Given the description of an element on the screen output the (x, y) to click on. 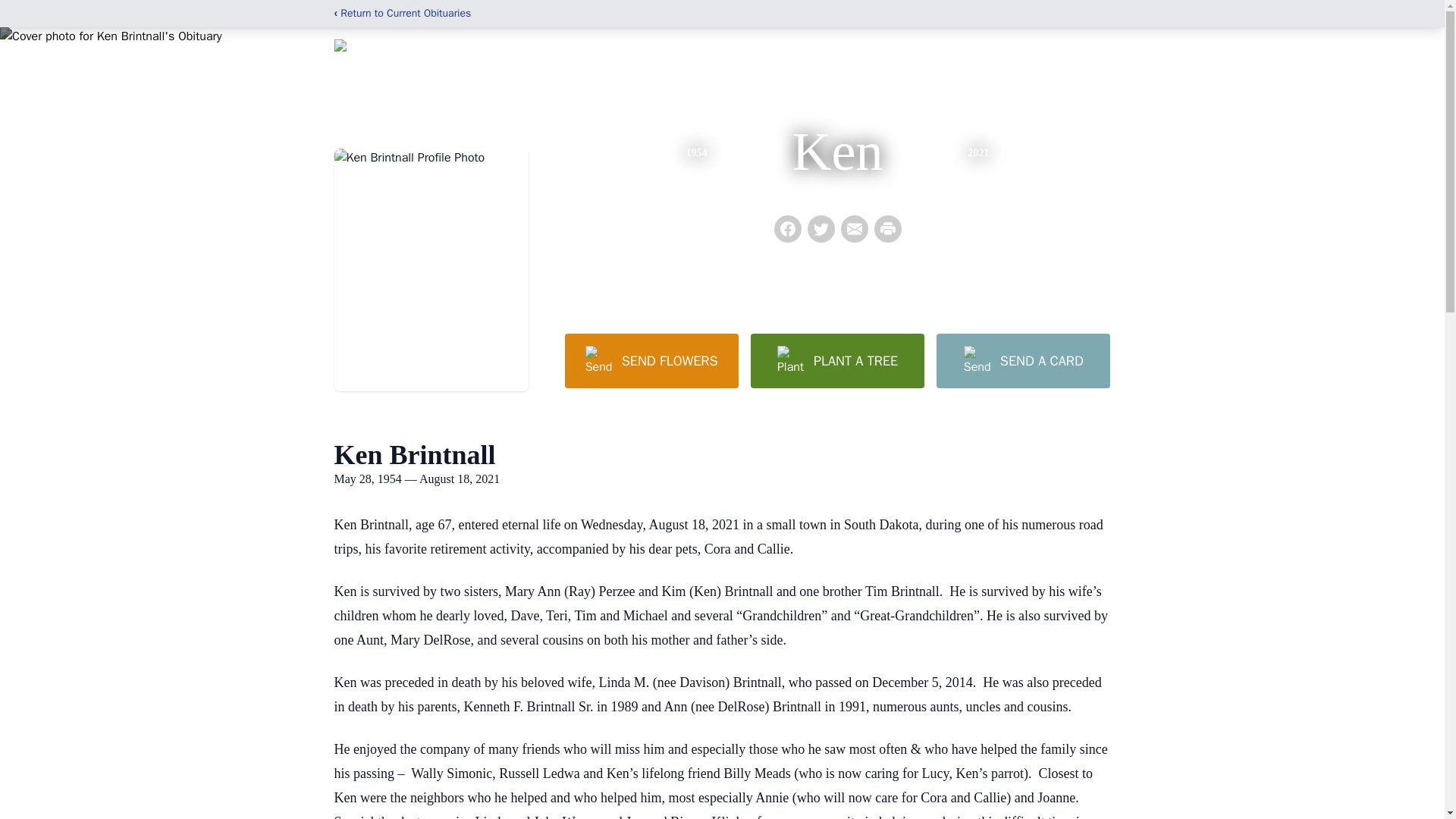
SEND FLOWERS (651, 360)
PLANT A TREE (837, 360)
SEND A CARD (1022, 360)
